Given the description of an element on the screen output the (x, y) to click on. 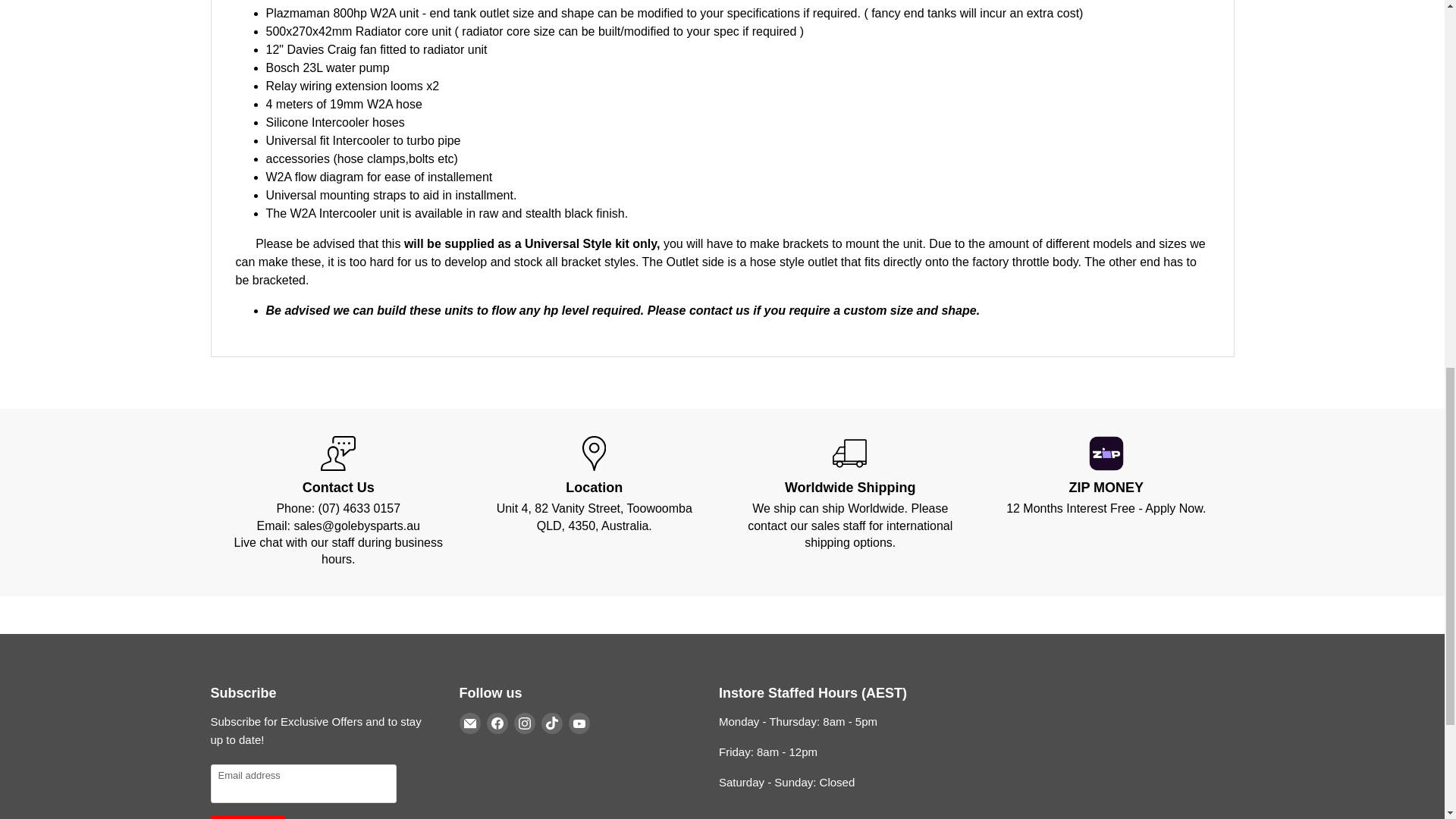
Facebook (497, 722)
Email (470, 722)
YouTube (579, 722)
Instagram (524, 722)
TikTok (551, 722)
